Given the description of an element on the screen output the (x, y) to click on. 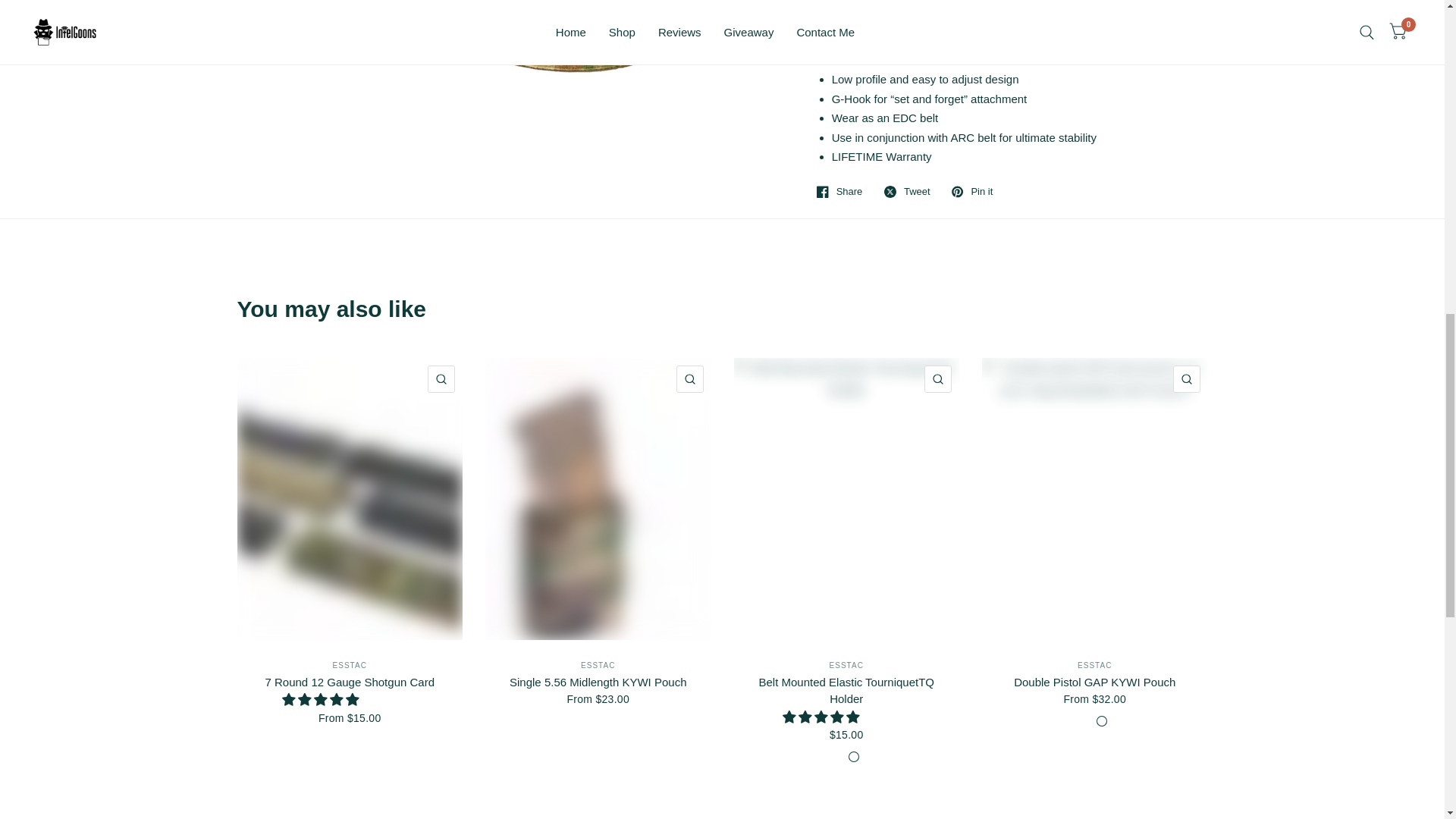
ESSTAC (846, 664)
Esstac (349, 664)
ESSTAC (349, 664)
7 Round 12 Gauge Shotgun Card (349, 682)
Single 5.56 Midlength KYWI Pouch (598, 682)
Share (839, 191)
Tweet (906, 191)
Pin it (972, 191)
7 Round 12 Gauge Shotgun Card (349, 682)
ESSTAC (597, 664)
